Given the description of an element on the screen output the (x, y) to click on. 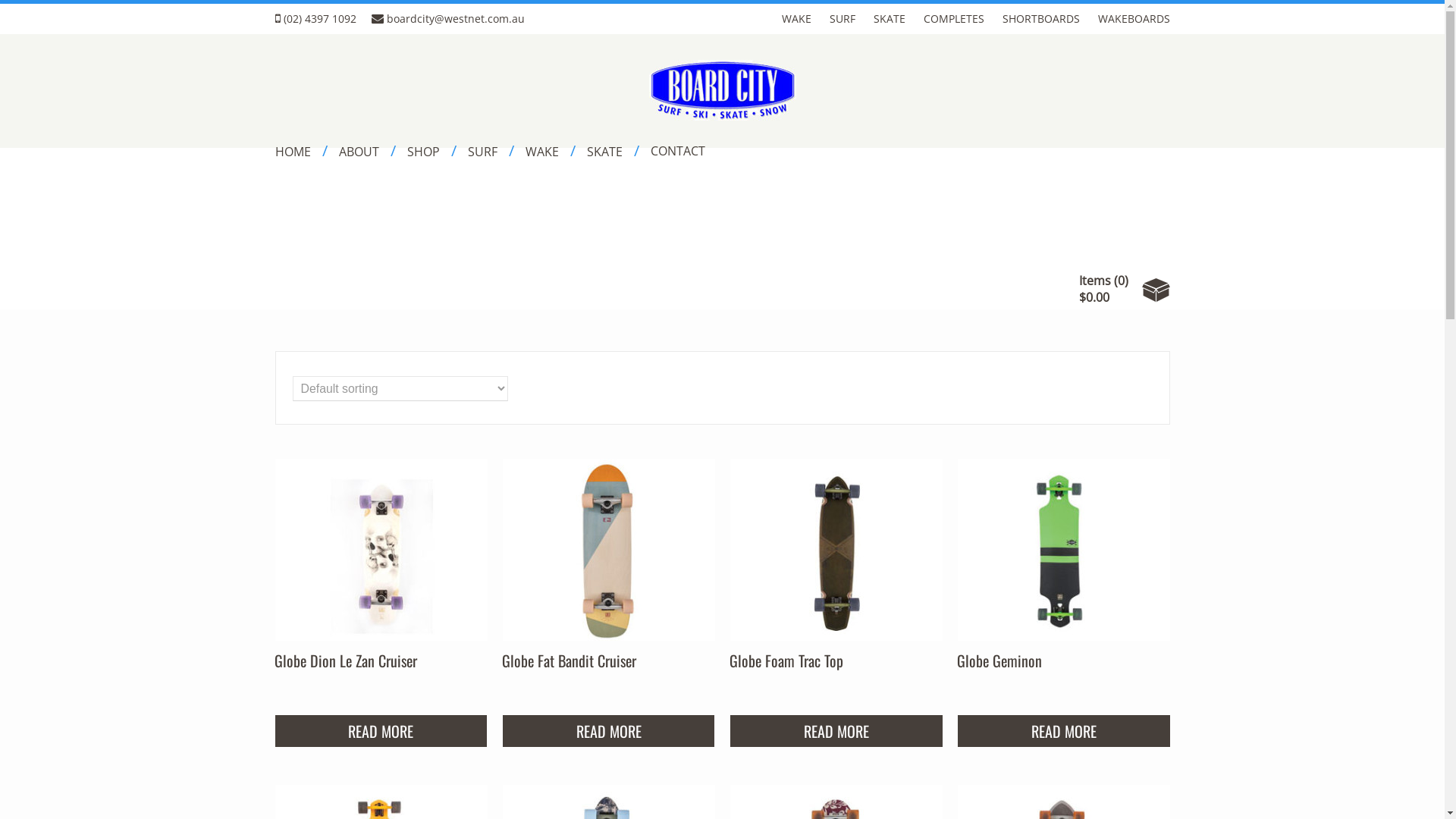
CONTACT Element type: text (677, 142)
WAKE Element type: text (549, 143)
SKATE Element type: text (889, 15)
READ MORE Element type: text (836, 730)
READ MORE Element type: text (608, 730)
READ MORE Element type: text (1063, 730)
COMPLETES Element type: text (953, 15)
Globe Geminon Element type: text (999, 660)
SHOP Element type: text (430, 143)
ABOUT Element type: text (366, 143)
SKATE Element type: text (612, 143)
Globe Dion Le Zan Cruiser Element type: text (345, 660)
READ MORE Element type: text (380, 730)
SURF Element type: text (490, 143)
Globe Fat Bandit Cruiser Element type: text (569, 660)
Globe Foam Trac Top Element type: text (786, 660)
$0.00 Element type: text (1094, 296)
WAKE Element type: text (795, 15)
Items Element type: text (1094, 280)
SHORTBOARDS Element type: text (1040, 15)
SURF Element type: text (842, 15)
WAKEBOARDS Element type: text (1133, 15)
Search Element type: text (1, 3)
HOME Element type: text (300, 143)
(0) Element type: text (1120, 280)
